Given the description of an element on the screen output the (x, y) to click on. 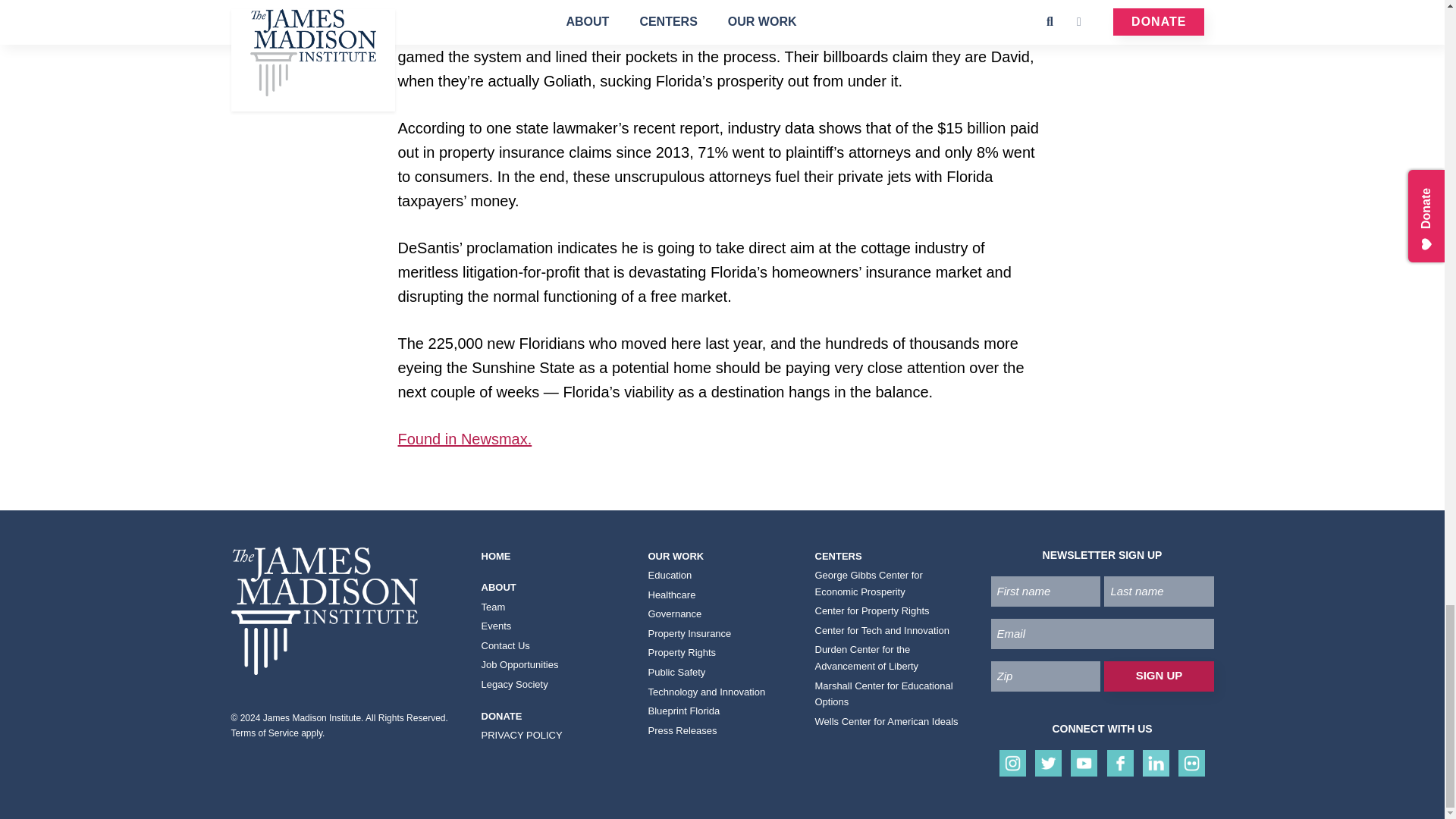
Contact Us (554, 646)
Team (554, 607)
Events (554, 626)
HOME (554, 556)
SIGN UP (1157, 675)
ABOUT (554, 587)
Found in Newsmax. (464, 438)
Job Opportunities (554, 664)
